Given the description of an element on the screen output the (x, y) to click on. 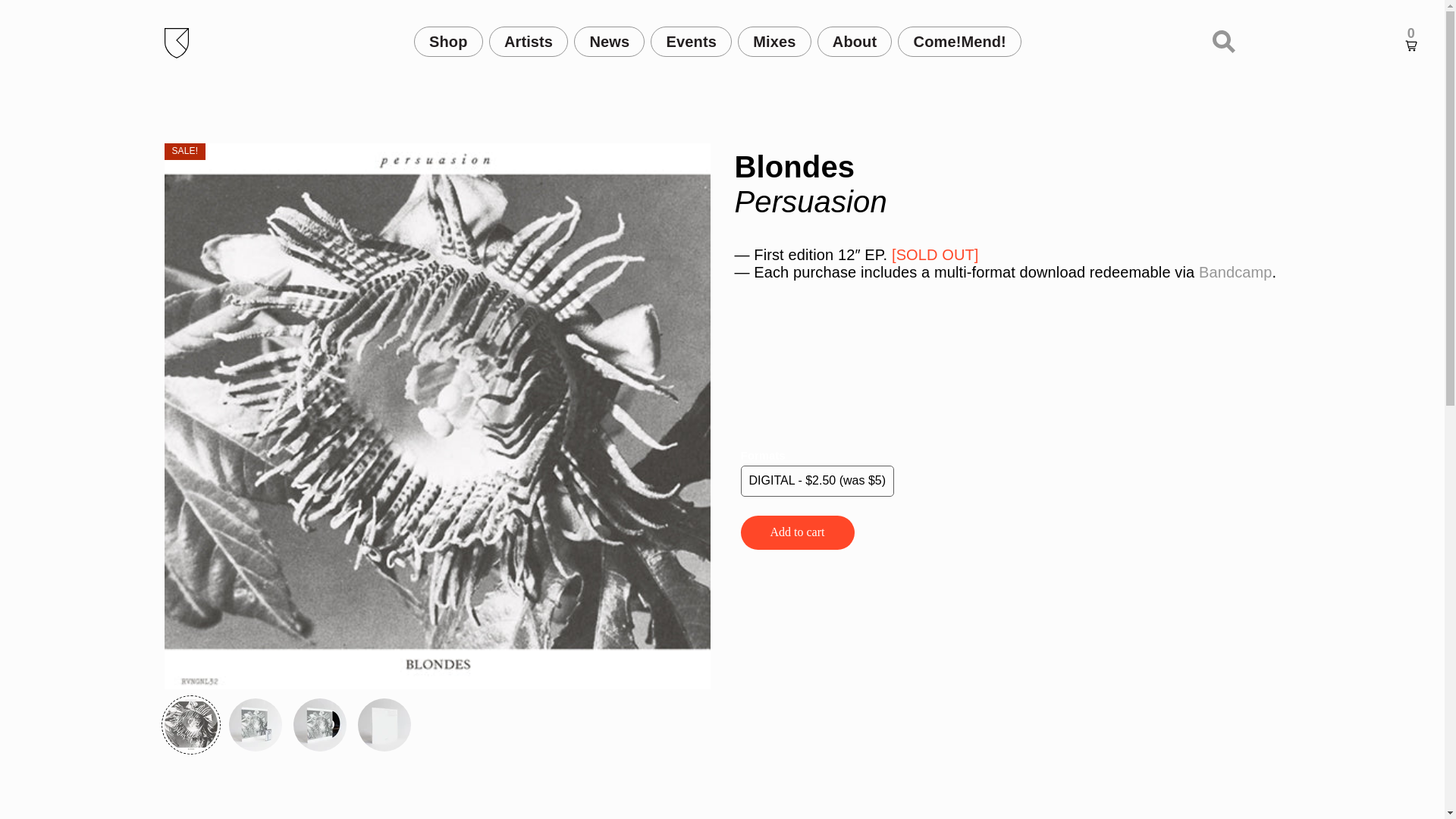
Come!Mend! (960, 41)
Mixes (774, 41)
Artists (529, 41)
Bandcamp (1235, 271)
About (854, 41)
News (609, 41)
Shop (448, 41)
Events (691, 41)
Add to cart (796, 532)
